Given the description of an element on the screen output the (x, y) to click on. 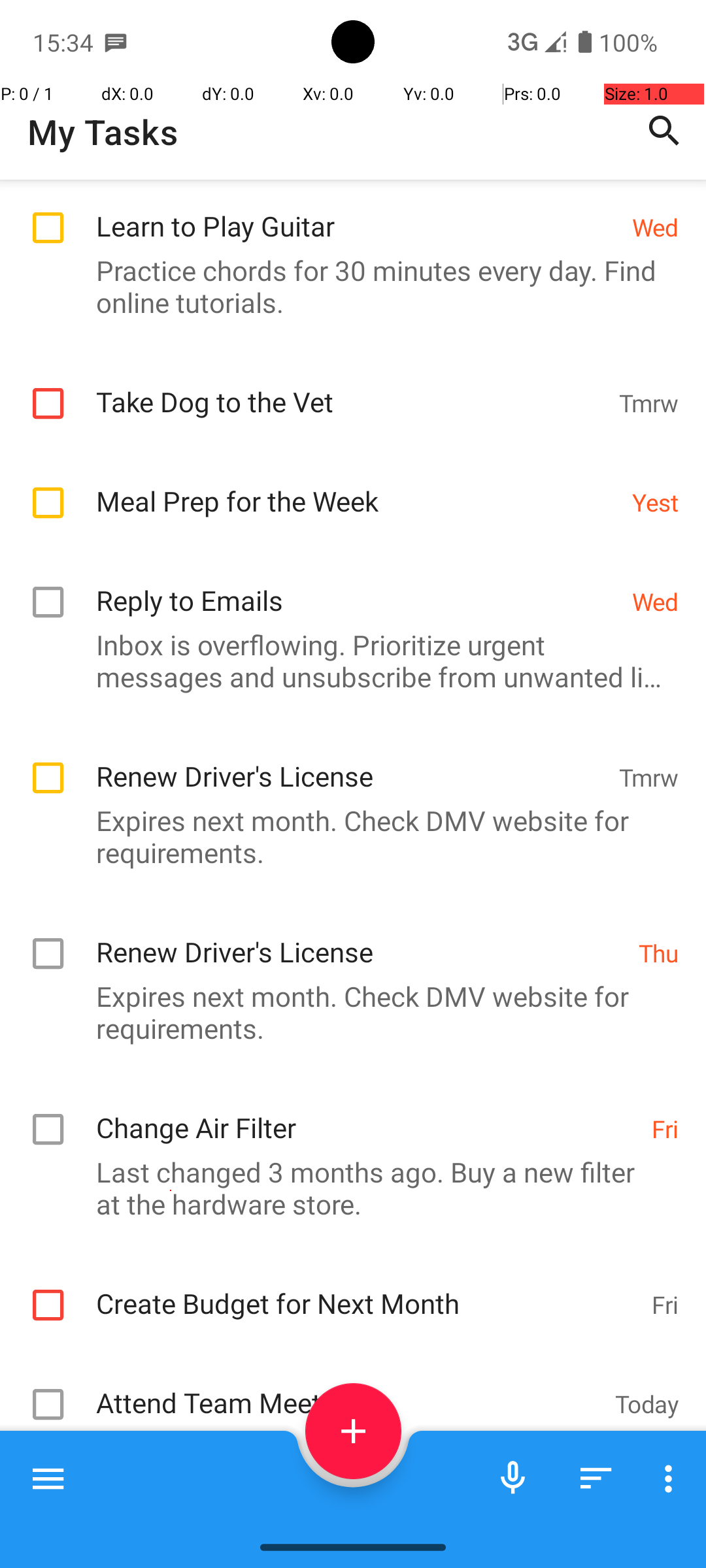
Learn to Play Guitar Element type: android.widget.TextView (357, 211)
Practice chords for 30 minutes every day. Find online tutorials. Element type: android.widget.TextView (346, 285)
Take Dog to the Vet Element type: android.widget.TextView (350, 387)
Inbox is overflowing. Prioritize urgent messages and unsubscribe from unwanted lists. Element type: android.widget.TextView (346, 660)
Renew Driver's License Element type: android.widget.TextView (350, 761)
Expires next month. Check DMV website for requirements. Element type: android.widget.TextView (346, 835)
Change Air Filter Element type: android.widget.TextView (367, 1113)
Last changed 3 months ago. Buy a new filter at the hardware store. Element type: android.widget.TextView (346, 1187)
Create Budget for Next Month Element type: android.widget.TextView (367, 1289)
Attend Team Meeting Element type: android.widget.TextView (348, 1388)
